Given the description of an element on the screen output the (x, y) to click on. 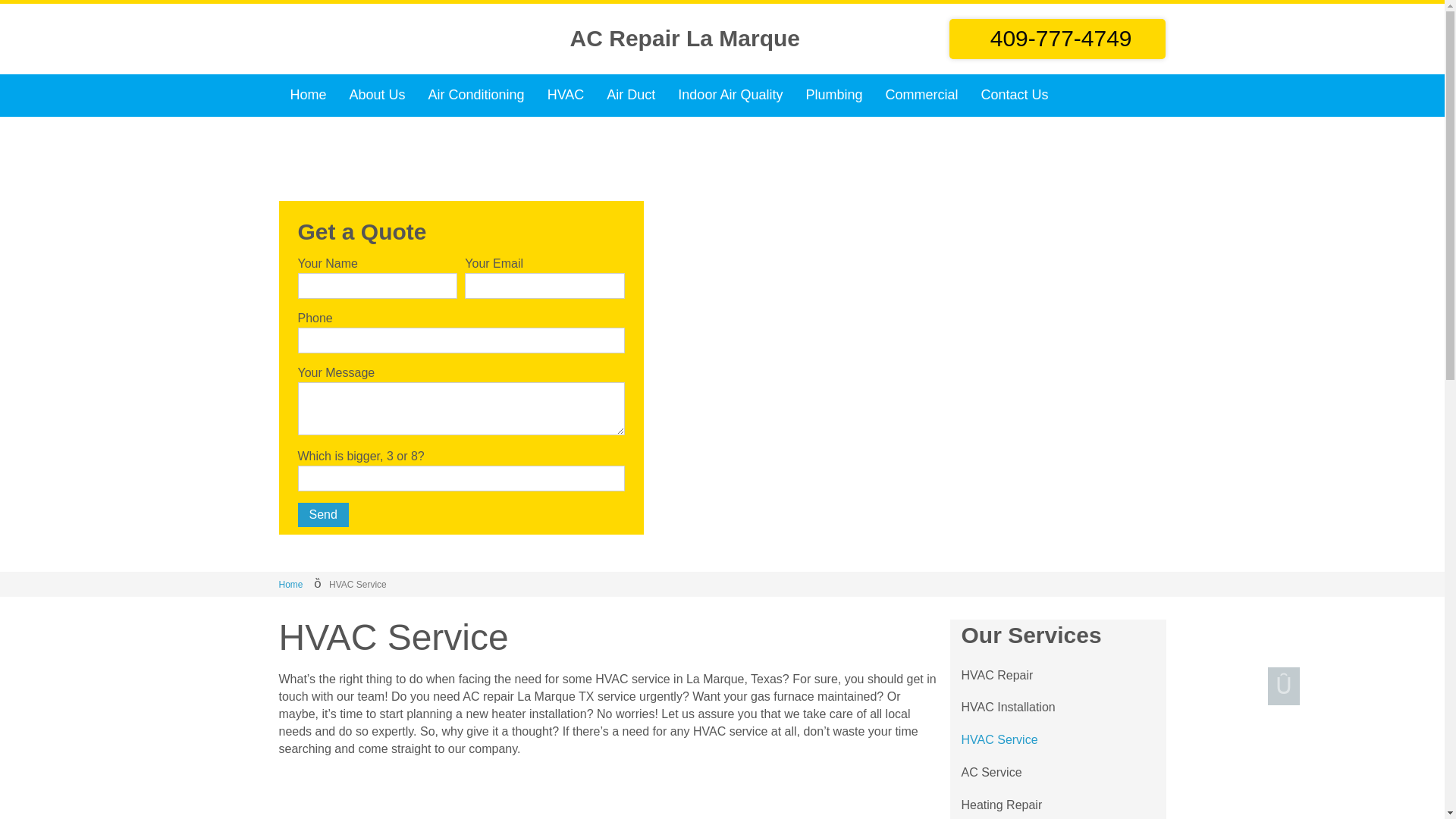
About Us (376, 95)
HVAC Installation (1007, 707)
AC Service (991, 772)
409-777-4749 (1057, 38)
Heating Repair (1001, 804)
HVAC (565, 95)
Indoor Air Quality (729, 95)
Home (308, 95)
Home (290, 584)
HVAC Repair (996, 676)
